Given the description of an element on the screen output the (x, y) to click on. 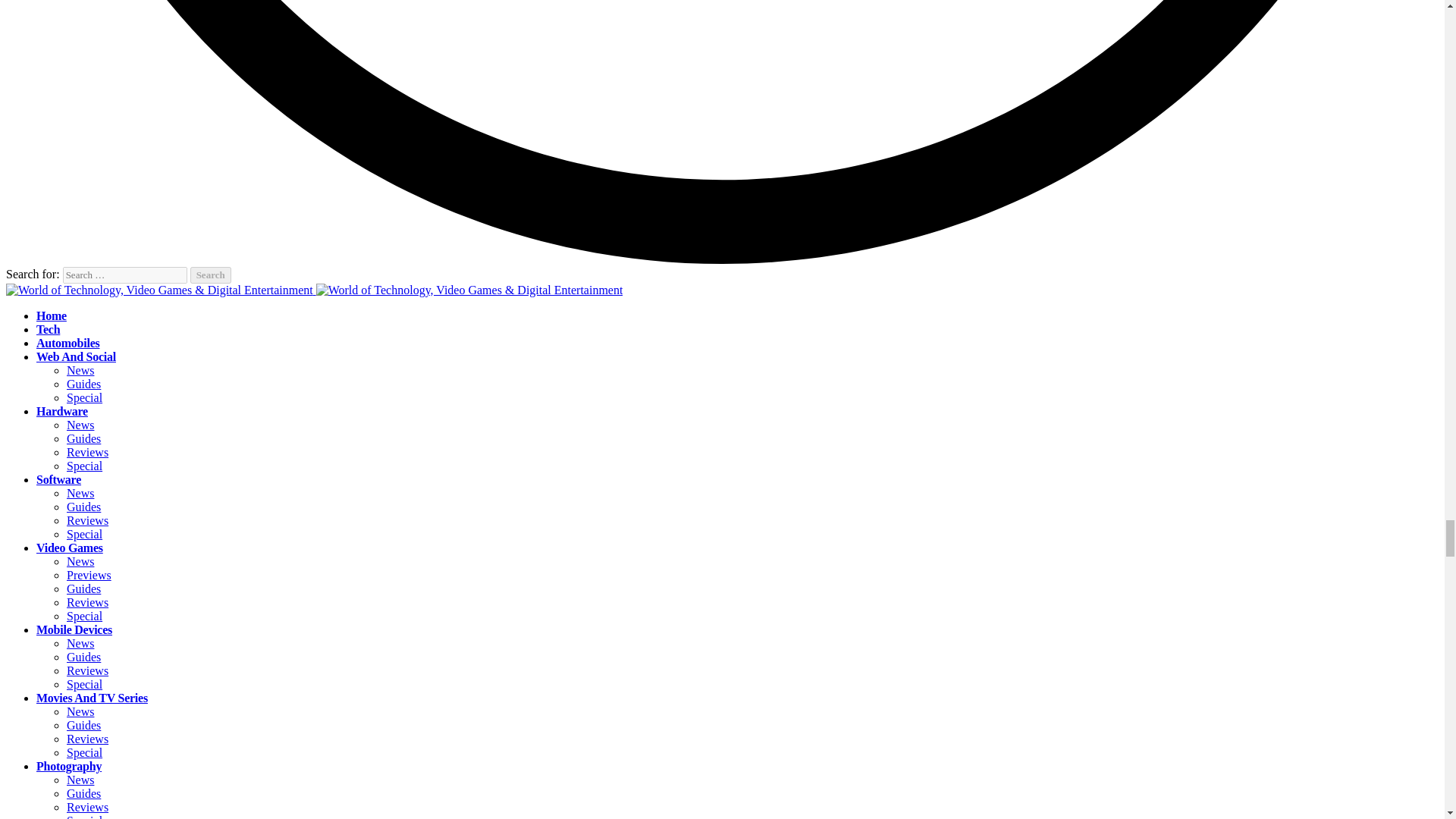
Search (210, 274)
Search (210, 274)
